Given the description of an element on the screen output the (x, y) to click on. 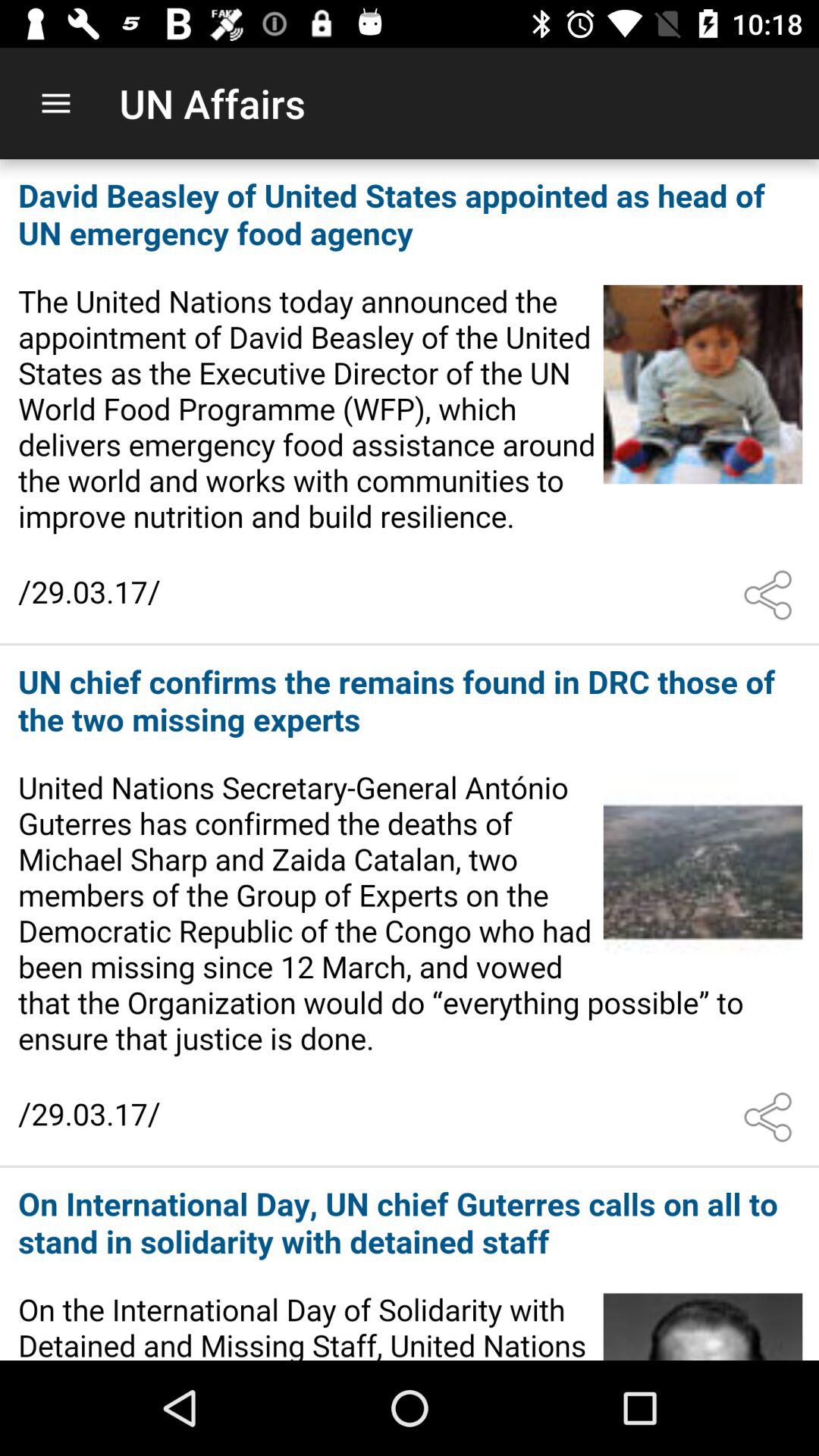
link to news article on on un chief guterres (409, 1264)
